Given the description of an element on the screen output the (x, y) to click on. 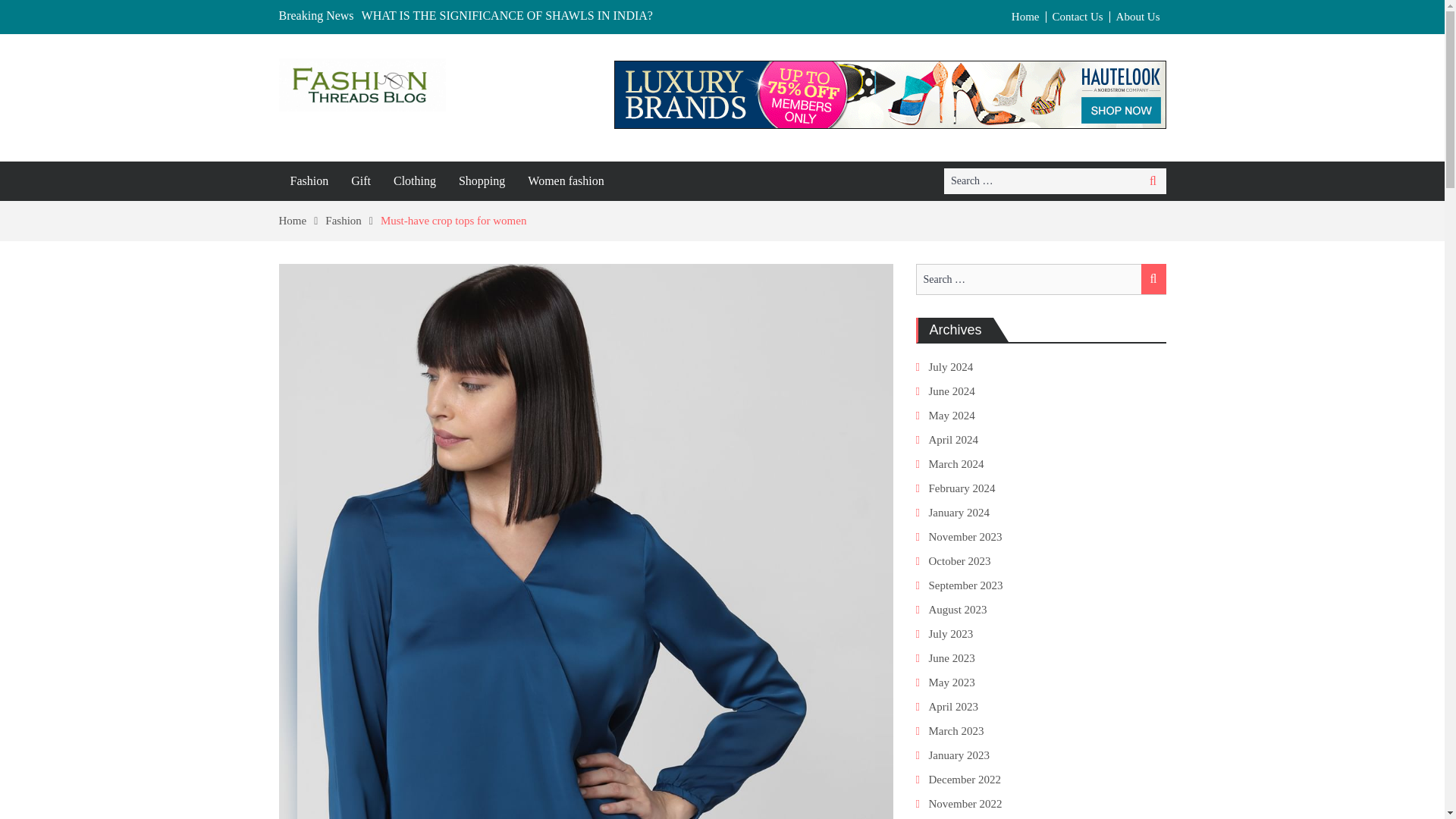
Shopping (481, 179)
Contact Us (1077, 16)
WHAT IS THE SIGNIFICANCE OF SHAWLS IN INDIA? (506, 15)
Women fashion (565, 179)
Clothing (413, 179)
Home (302, 219)
Fashion (352, 219)
Home (1026, 16)
About Us (1137, 16)
Gift (360, 179)
